Given the description of an element on the screen output the (x, y) to click on. 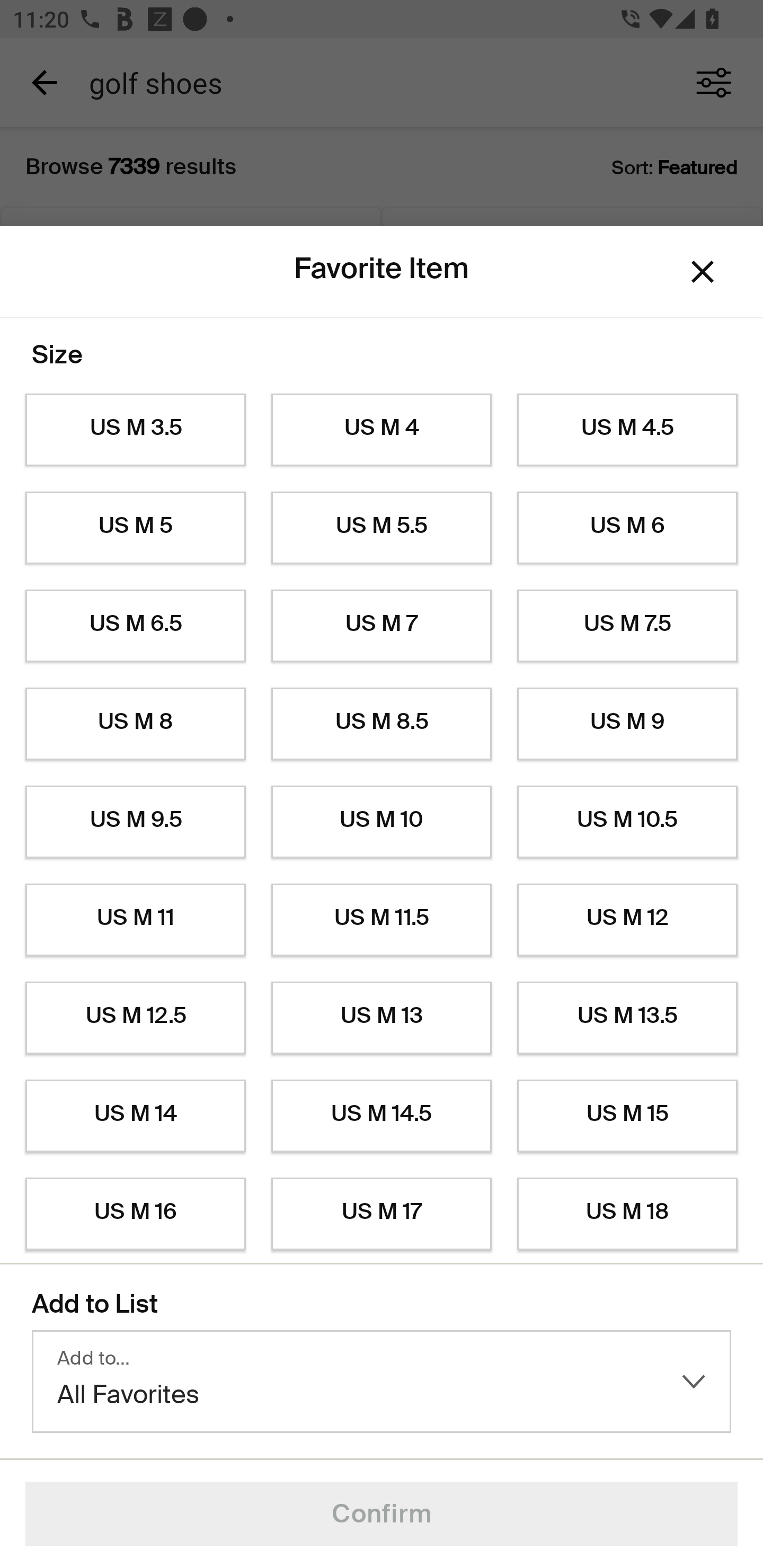
Dismiss (702, 271)
US M 3.5 (135, 430)
US M 4 (381, 430)
US M 4.5 (627, 430)
US M 5 (135, 527)
US M 5.5 (381, 527)
US M 6 (627, 527)
US M 6.5 (135, 626)
US M 7 (381, 626)
US M 7.5 (627, 626)
US M 8 (135, 724)
US M 8.5 (381, 724)
US M 9 (627, 724)
US M 9.5 (135, 822)
US M 10 (381, 822)
US M 10.5 (627, 822)
US M 11 (135, 919)
US M 11.5 (381, 919)
US M 12 (627, 919)
US M 12.5 (135, 1018)
US M 13 (381, 1018)
US M 13.5 (627, 1018)
US M 14 (135, 1116)
US M 14.5 (381, 1116)
US M 15 (627, 1116)
US M 16 (135, 1214)
US M 17 (381, 1214)
US M 18 (627, 1214)
Add to… All Favorites (381, 1381)
Confirm (381, 1513)
